Given the description of an element on the screen output the (x, y) to click on. 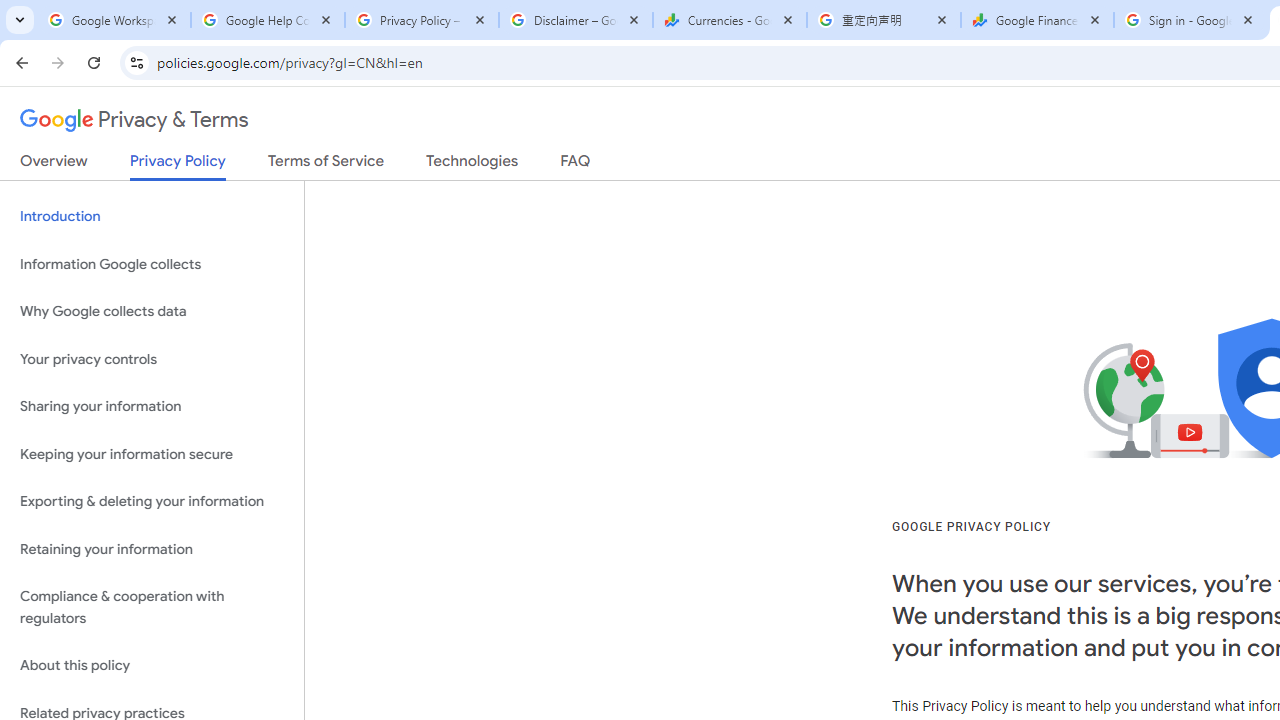
About this policy (152, 666)
